Given the description of an element on the screen output the (x, y) to click on. 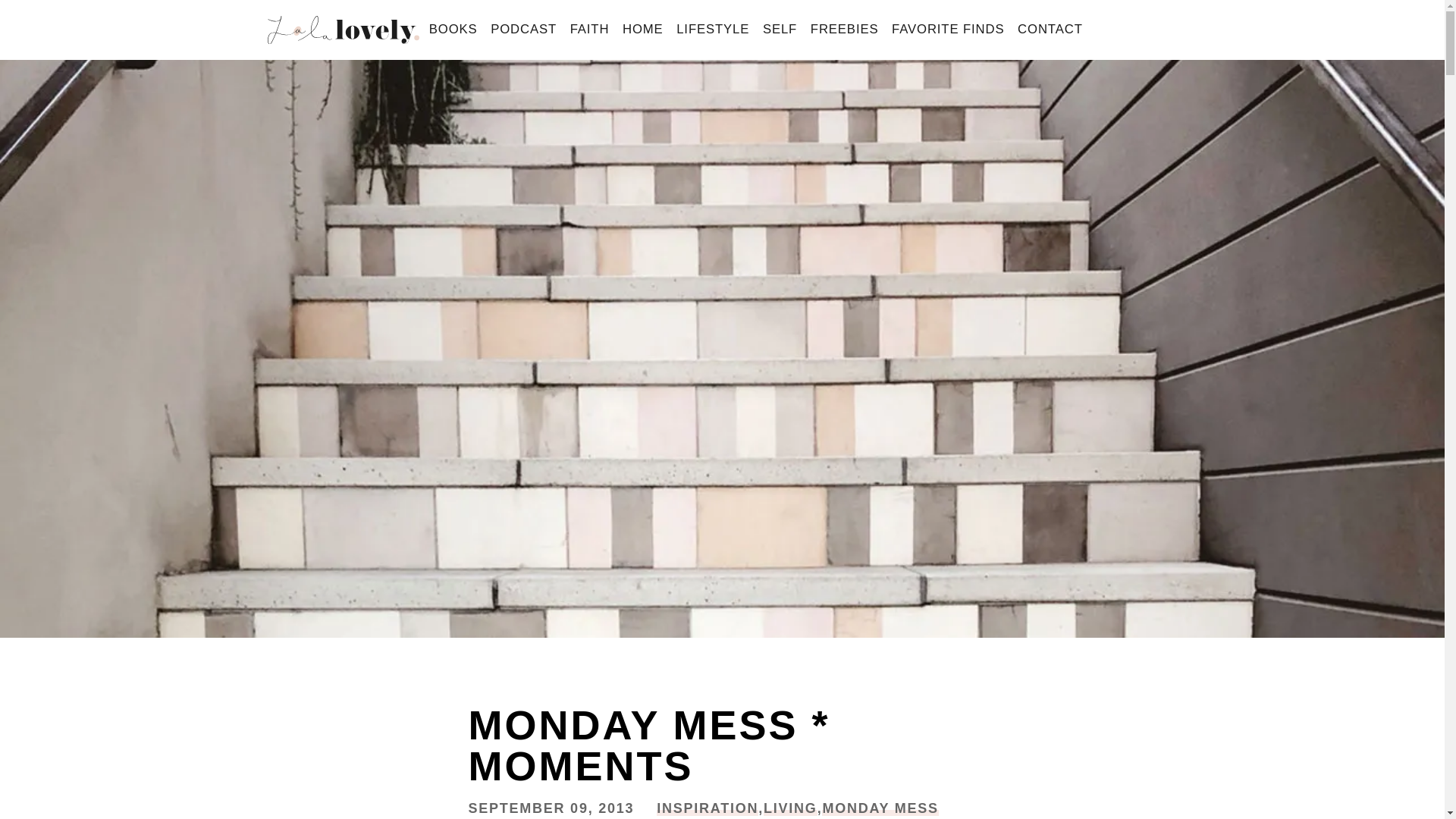
BOOKS (452, 29)
SELF (779, 29)
PODCAST (523, 29)
HOME (642, 29)
FREEBIES (844, 29)
LIFESTYLE (712, 29)
Search (40, 17)
FAVORITE FINDS (947, 29)
FAITH (589, 29)
